Given the description of an element on the screen output the (x, y) to click on. 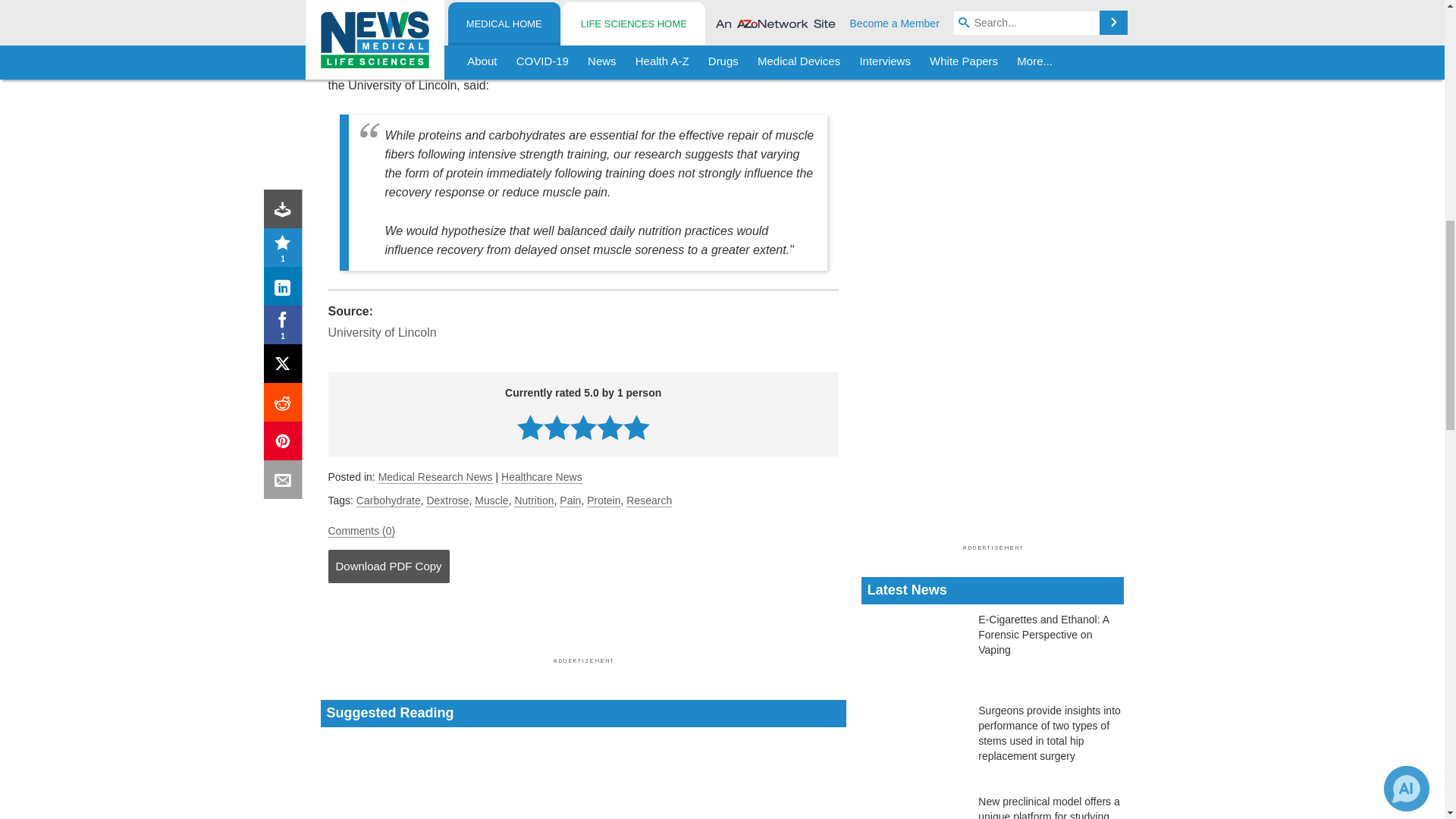
Rate this 5 stars out of 5 (636, 427)
Rate this 4 stars out of 5 (609, 427)
